Given the description of an element on the screen output the (x, y) to click on. 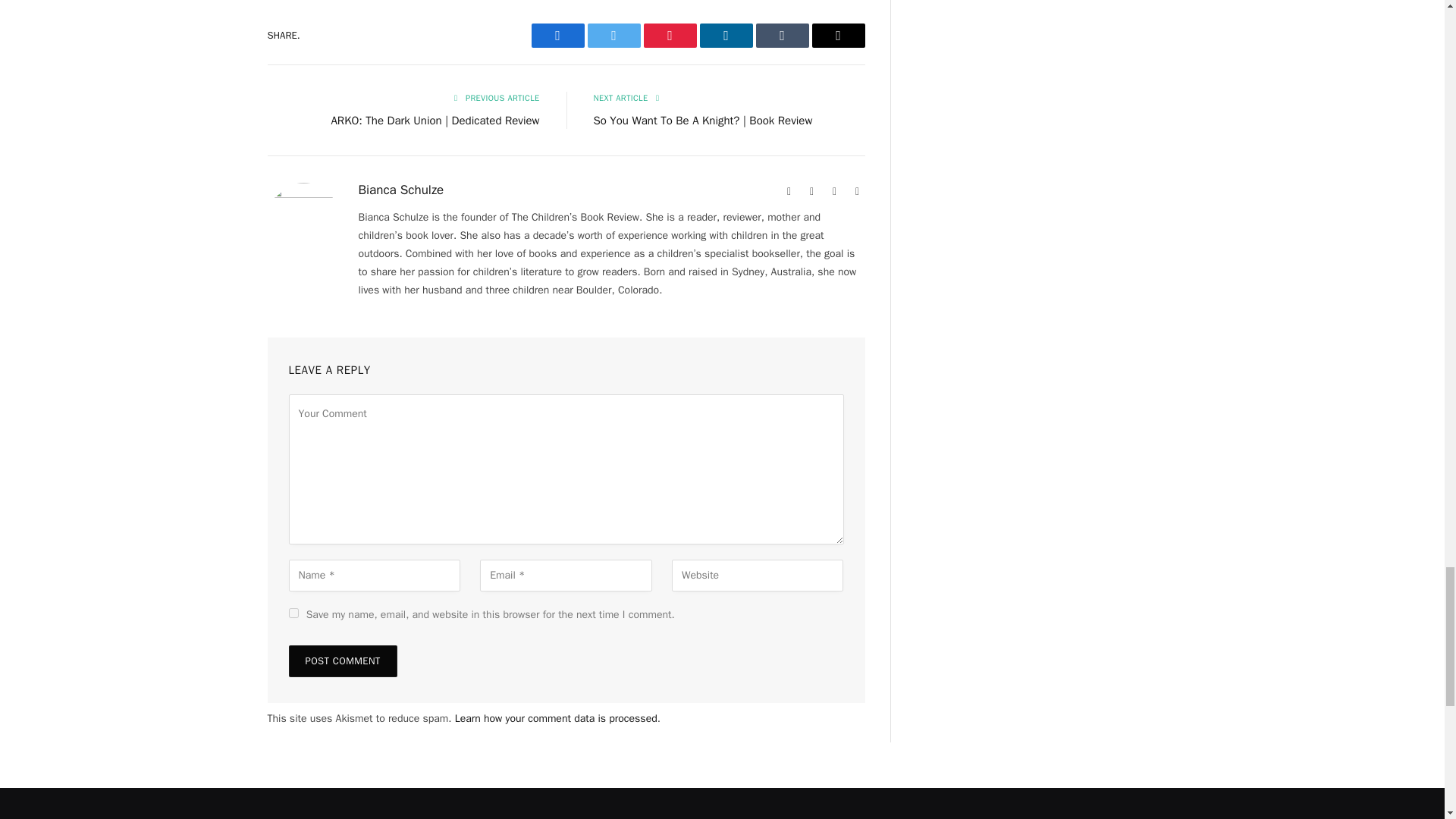
Post Comment (342, 661)
yes (293, 613)
